Given the description of an element on the screen output the (x, y) to click on. 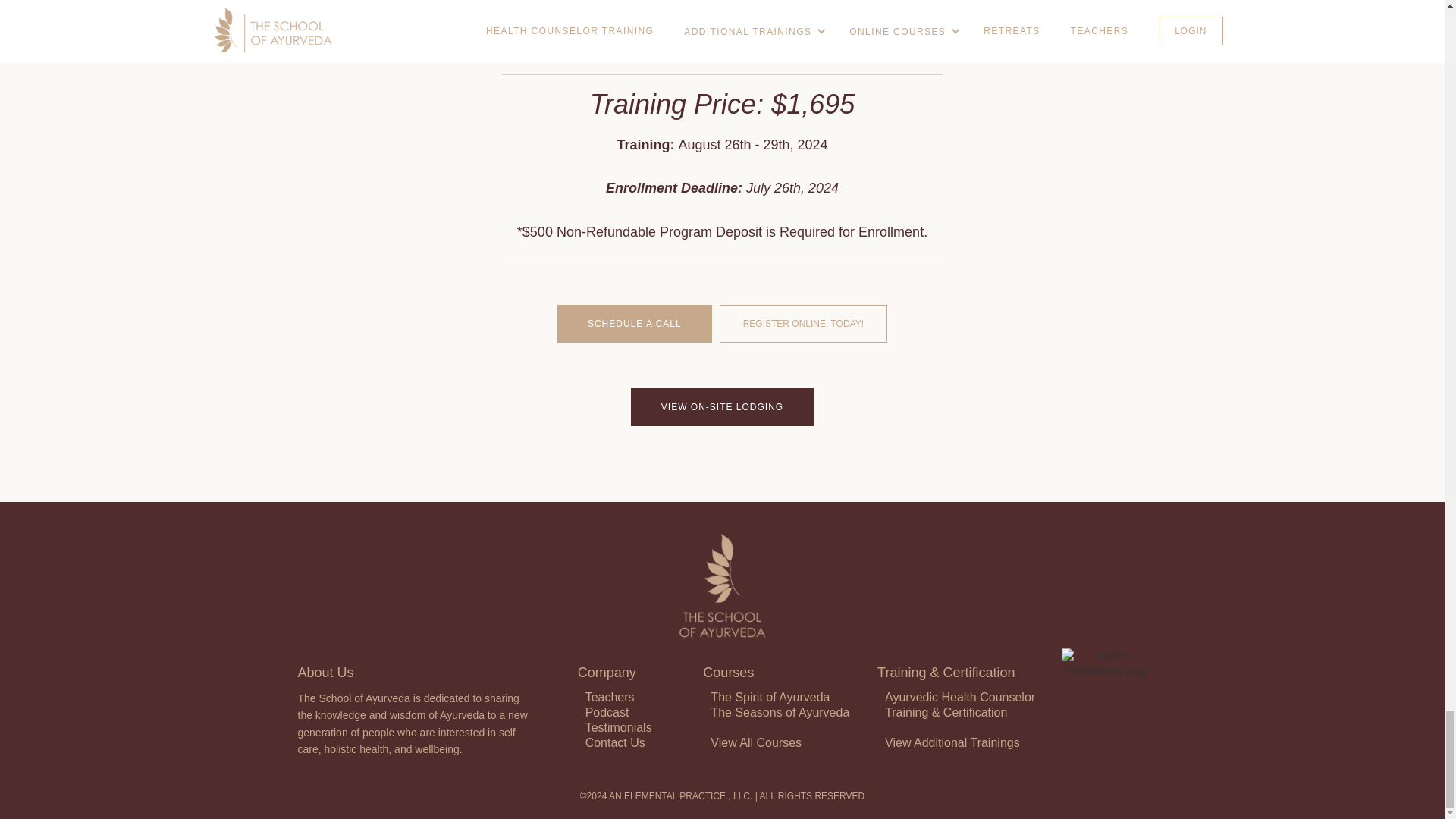
Podcast (606, 712)
The Seasons of Ayurveda (779, 712)
Contact Us (615, 742)
The Spirit of Ayurveda (769, 697)
View All Courses (756, 742)
View Additional Trainings (952, 742)
REGISTER ONLINE, TODAY! (802, 323)
VIEW ON-SITE LODGING (721, 406)
Testimonials (618, 727)
Teachers (609, 697)
SCHEDULE A CALL (634, 323)
